Given the description of an element on the screen output the (x, y) to click on. 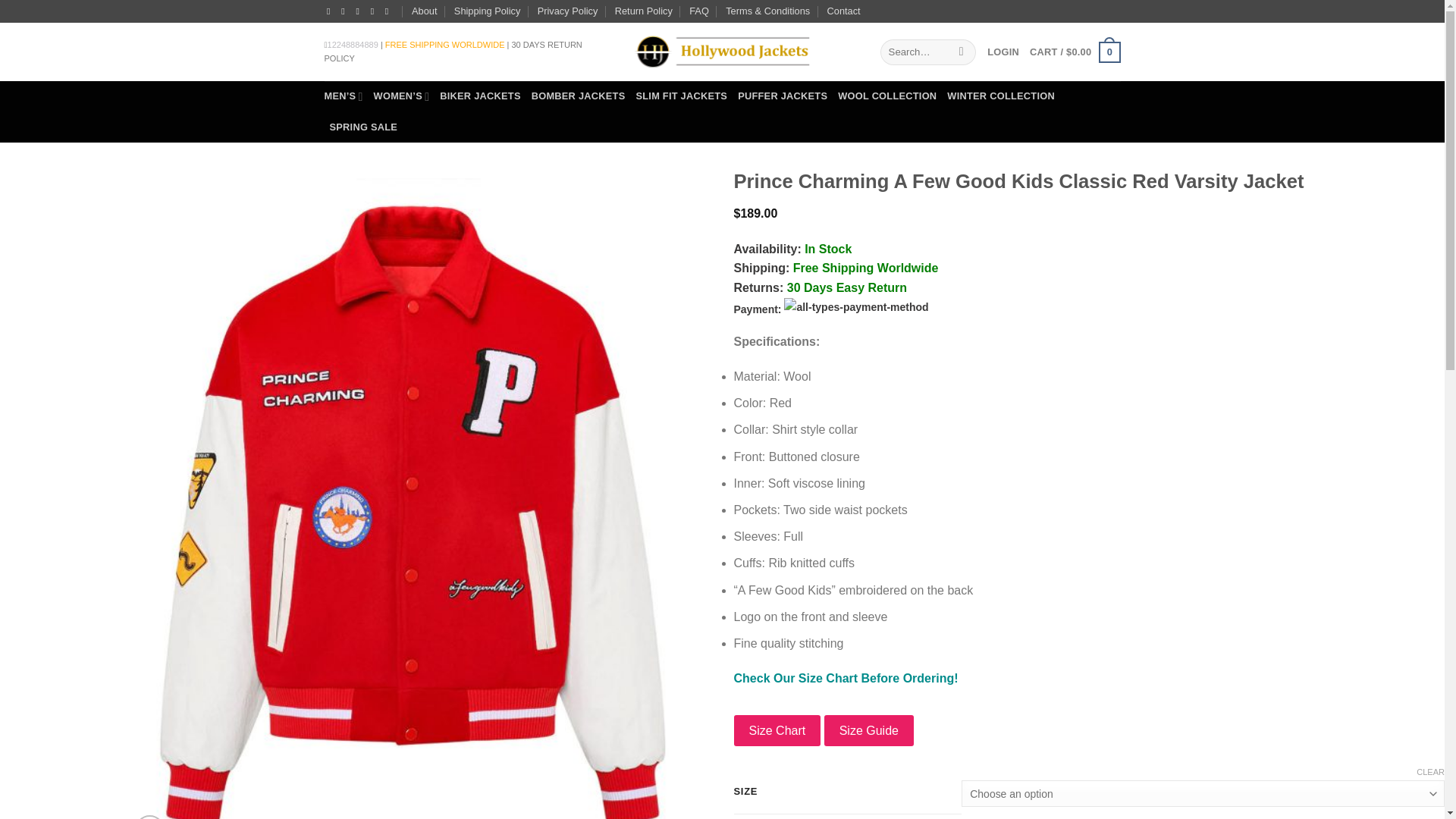
Search (961, 52)
Hollywood Jackets - Hollywood Jackets (721, 52)
Contact (843, 11)
12248884889 (352, 44)
Return Policy (643, 11)
Shipping Policy (487, 11)
LOGIN (1003, 51)
Privacy Policy (567, 11)
About (424, 11)
Cart (1074, 52)
